Given the description of an element on the screen output the (x, y) to click on. 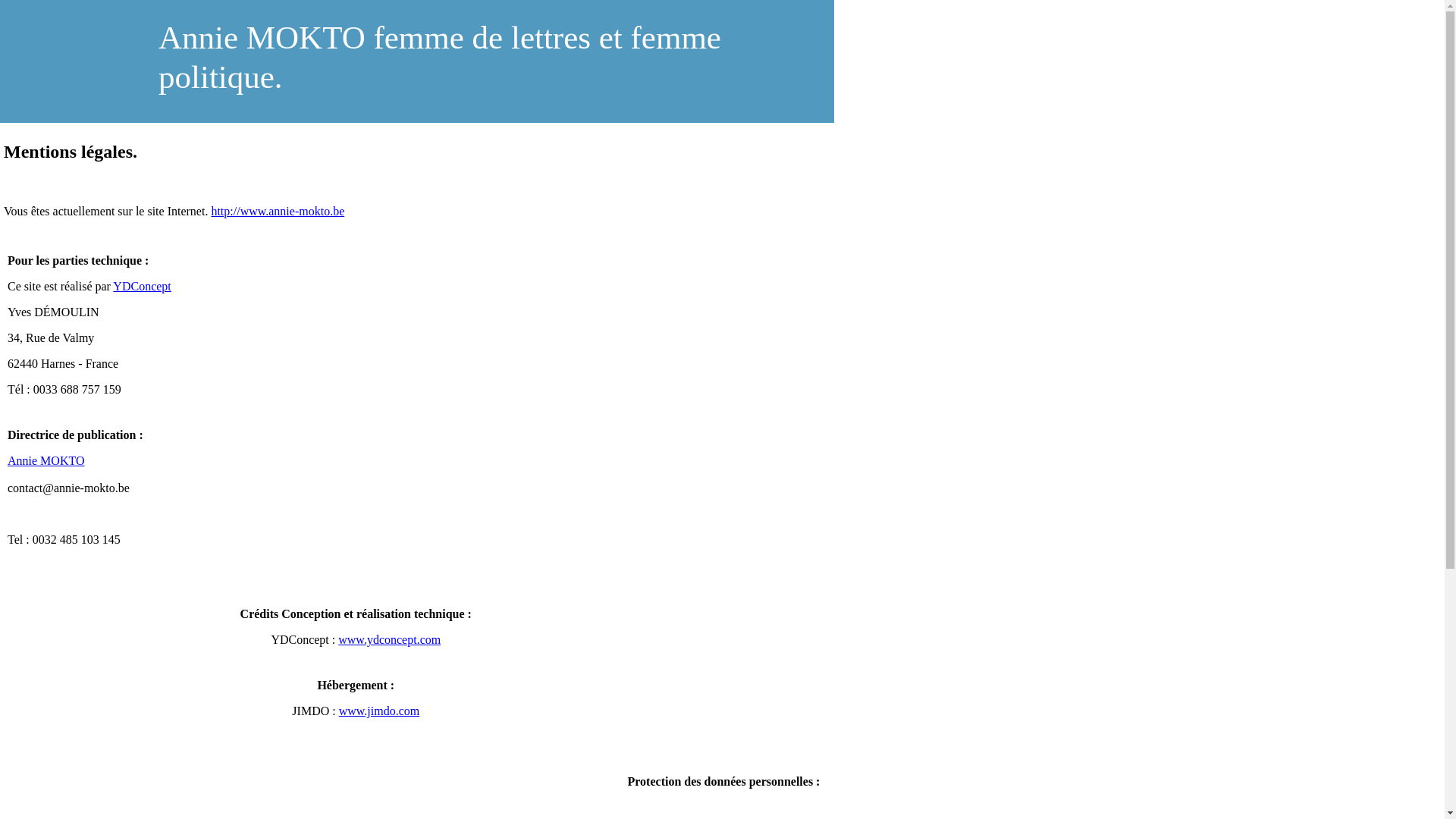
http://www.annie-mokto.be Element type: text (277, 210)
YDConcept Element type: text (141, 285)
Annie MOKTO Element type: text (45, 460)
www.ydconcept.com Element type: text (389, 639)
www.jimdo.com Element type: text (379, 710)
